Given the description of an element on the screen output the (x, y) to click on. 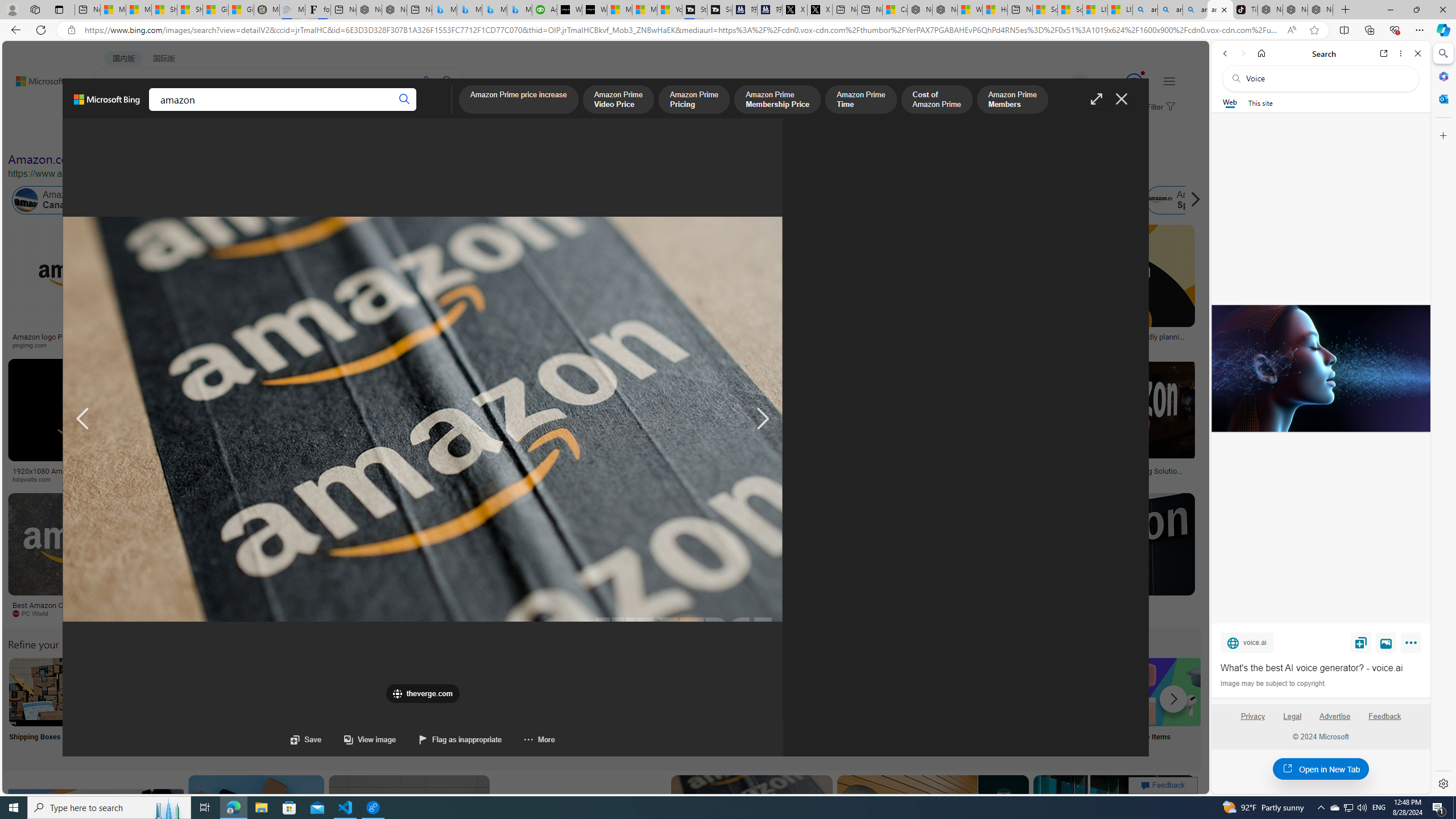
Amazon Sale Items Sale Items (1169, 706)
amazon - Search Images (1219, 9)
Online Shopping Homepage (868, 706)
Microsoft Rewards 135 (1120, 81)
Amazon Jobs Near Me (342, 691)
VIDEOS (260, 111)
AutomationID: navr (762, 418)
Privacy (1252, 720)
Microsoft Start (644, 9)
Streaming Coverage | T3 (694, 9)
Online Shopping Search (118, 706)
